Given the description of an element on the screen output the (x, y) to click on. 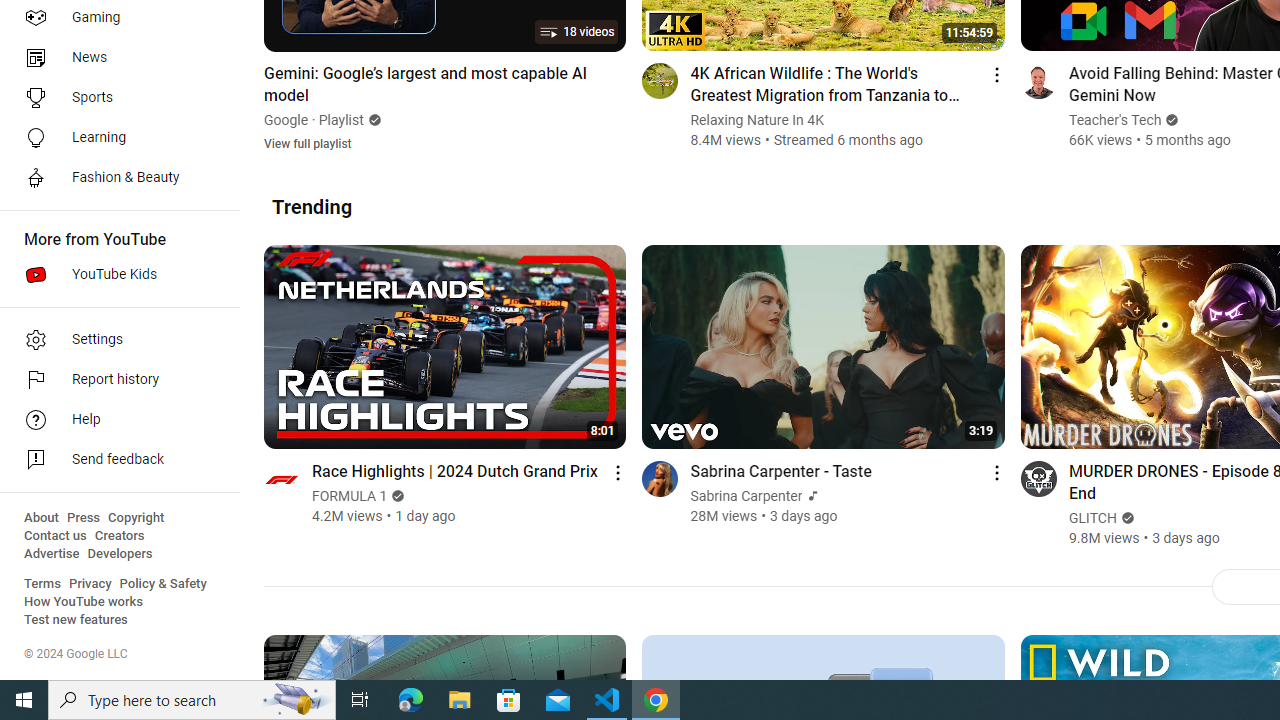
Go to channel (1038, 478)
Teacher's Tech (1115, 120)
Trending (312, 206)
FORMULA 1 (350, 496)
Developers (120, 554)
Fashion & Beauty (113, 177)
GLITCH (1092, 518)
Creators (118, 536)
Learning (113, 137)
How YouTube works (83, 602)
